Given the description of an element on the screen output the (x, y) to click on. 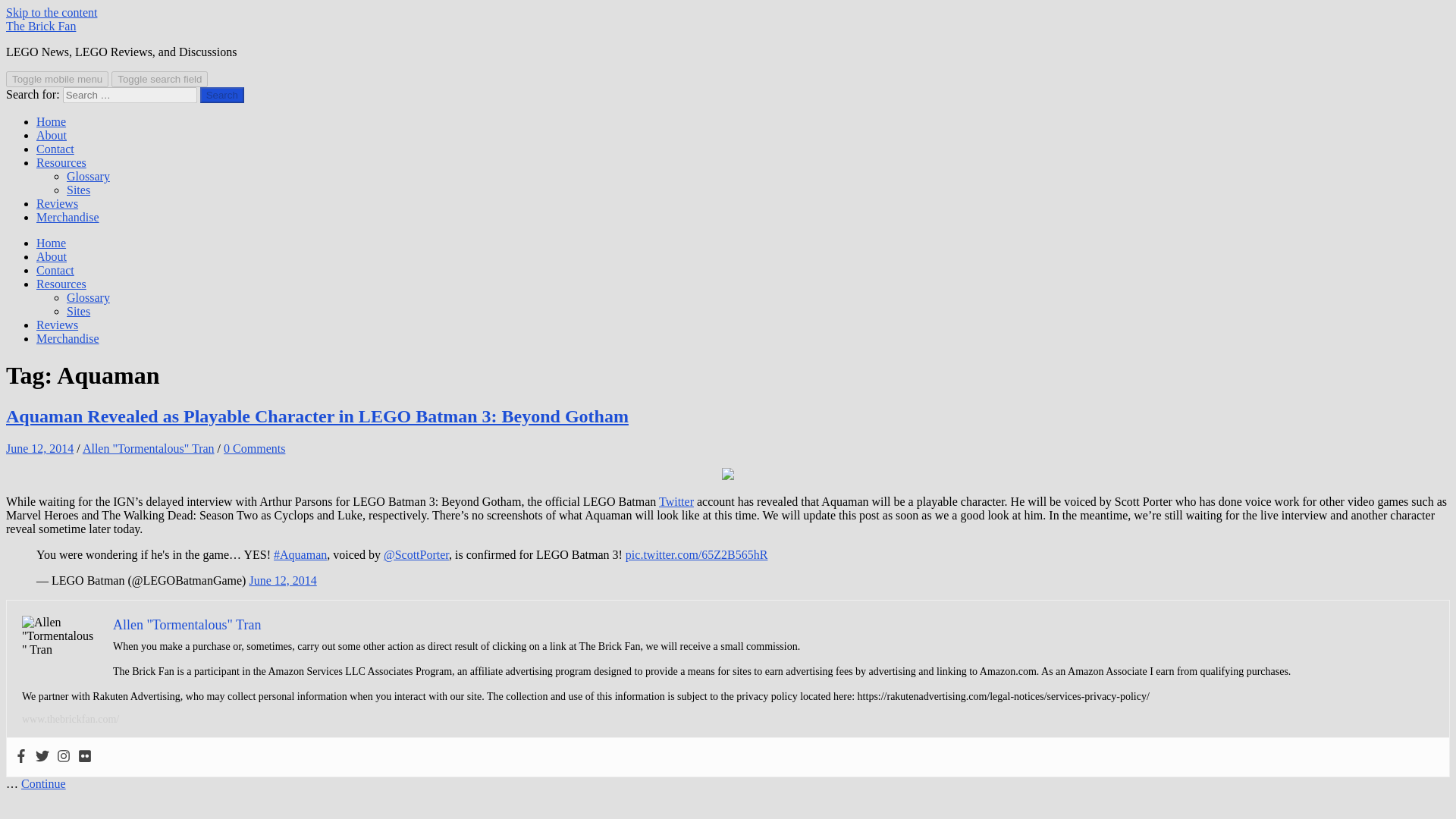
About (51, 134)
Posts by Allen "Tormentalous" Tran (148, 448)
The Brick Fan (40, 25)
Toggle search field (160, 78)
Merchandise (67, 338)
Toggle mobile menu (56, 78)
0 Comments (254, 448)
Reviews (57, 203)
Resources (60, 162)
Contact (55, 269)
